Given the description of an element on the screen output the (x, y) to click on. 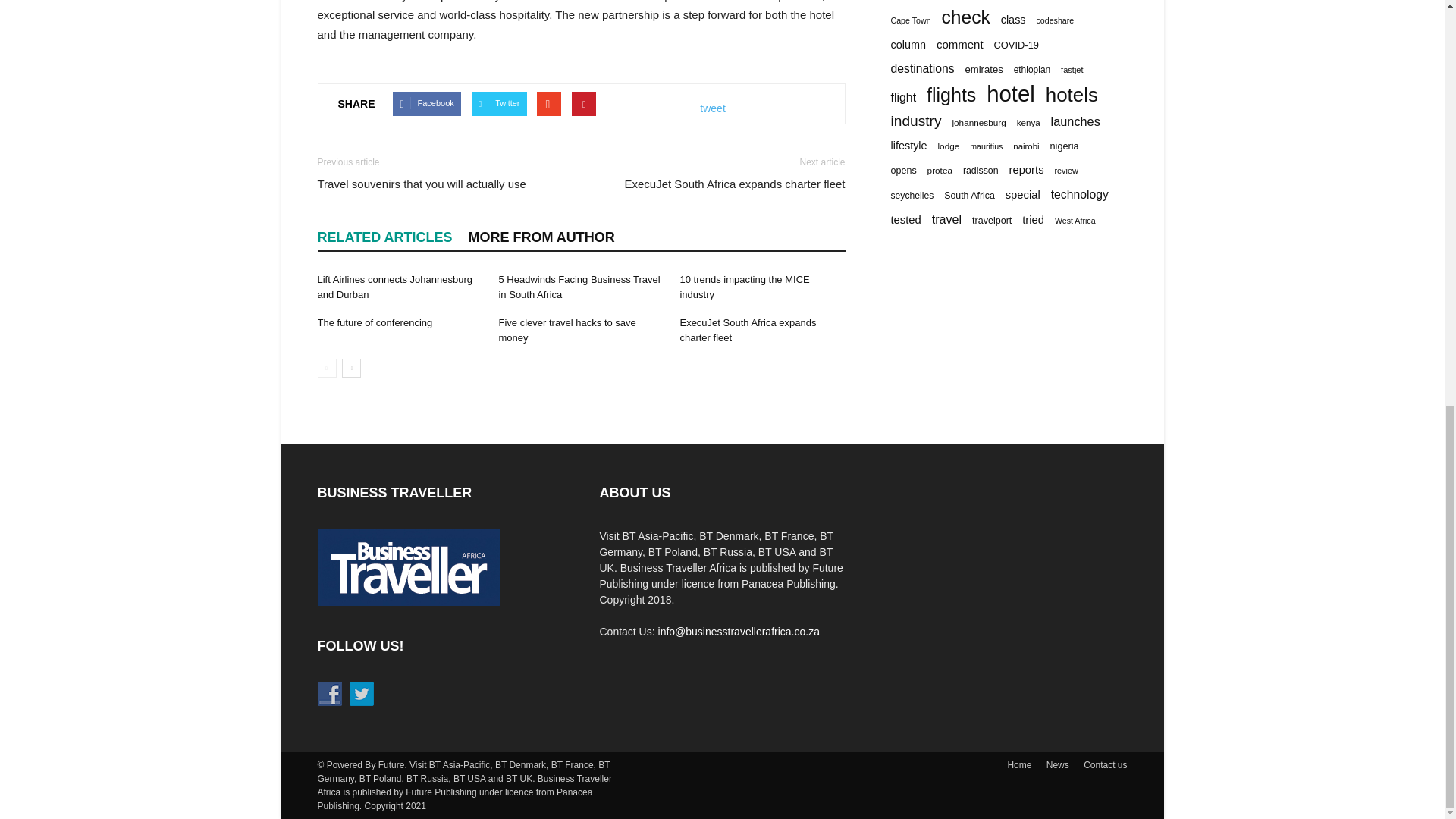
5 Headwinds Facing Business Travel in South Africa (578, 286)
ExecuJet South Africa expands charter fleet (747, 329)
Lift Airlines connects Johannesburg and Durban (394, 286)
The future of conferencing (374, 322)
Five clever travel hacks to save money (565, 329)
10 trends impacting the MICE industry (744, 286)
